Given the description of an element on the screen output the (x, y) to click on. 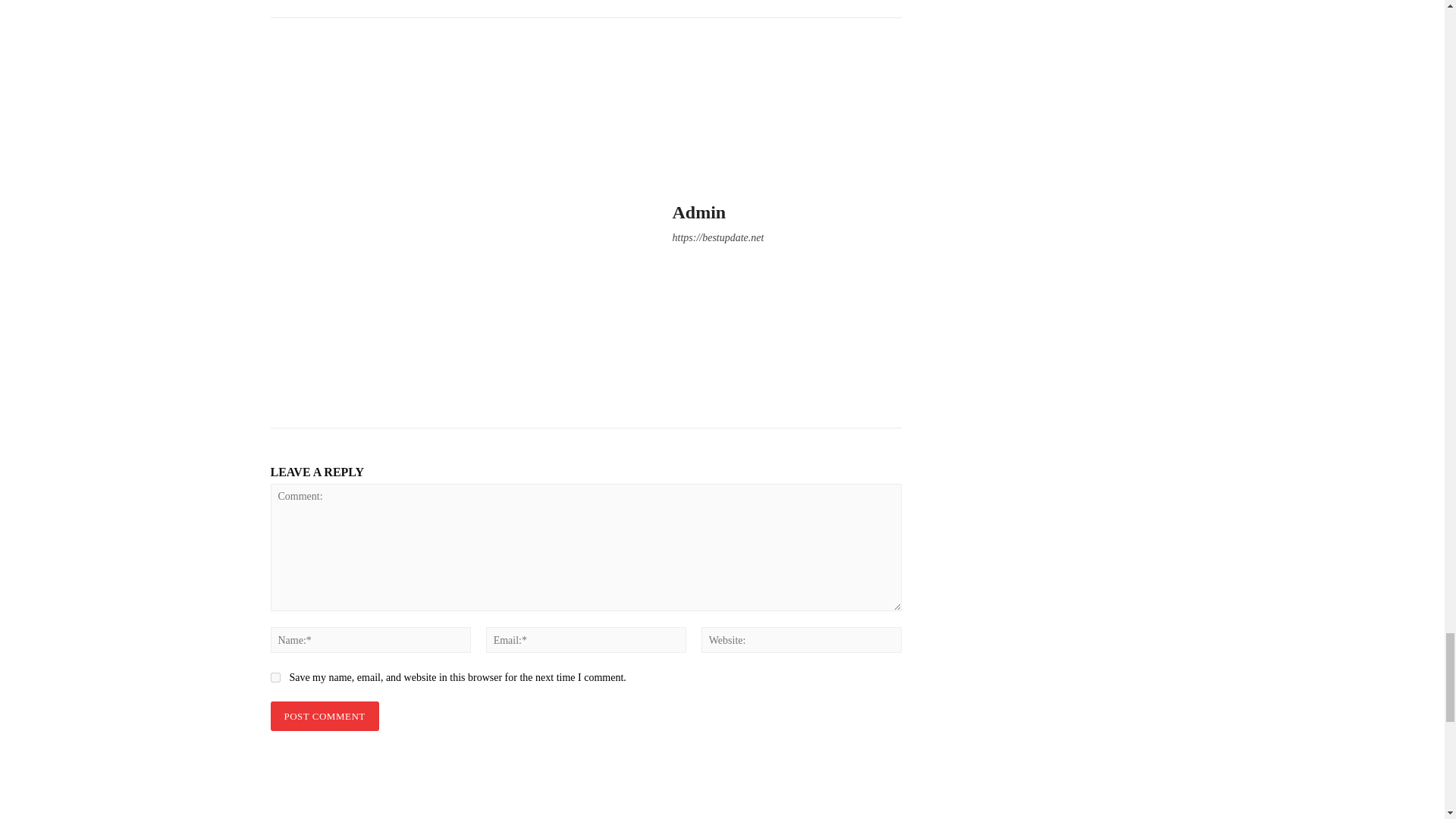
yes (274, 677)
Post Comment (323, 716)
